Given the description of an element on the screen output the (x, y) to click on. 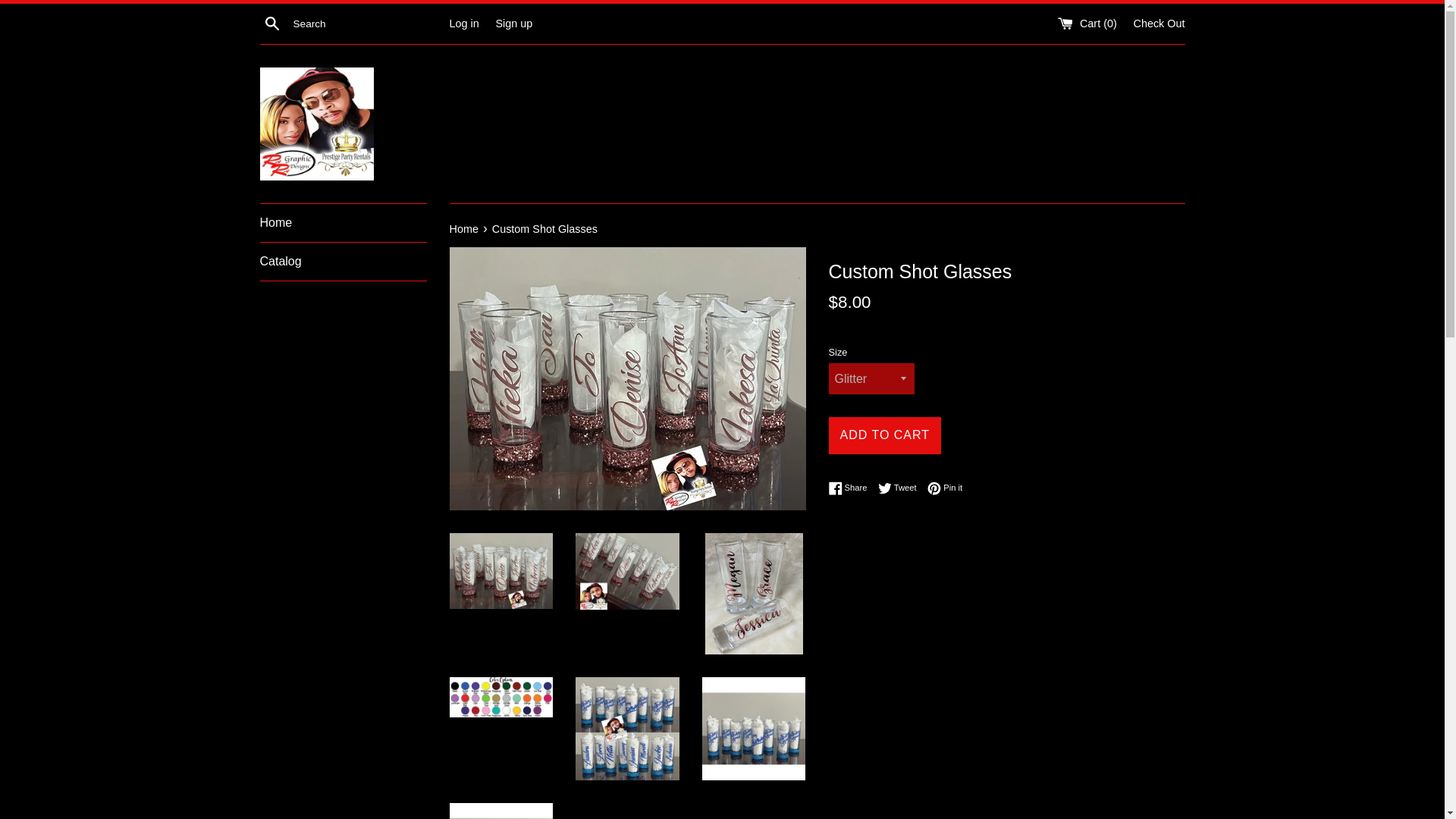
Back to the frontpage (464, 228)
Search (271, 22)
ADD TO CART (884, 434)
Sign up (900, 488)
Home (513, 22)
Tweet on Twitter (464, 228)
Home (900, 488)
Share on Facebook (342, 222)
Pin on Pinterest (851, 488)
Log in (944, 488)
Catalog (463, 22)
Check Out (342, 261)
